Given the description of an element on the screen output the (x, y) to click on. 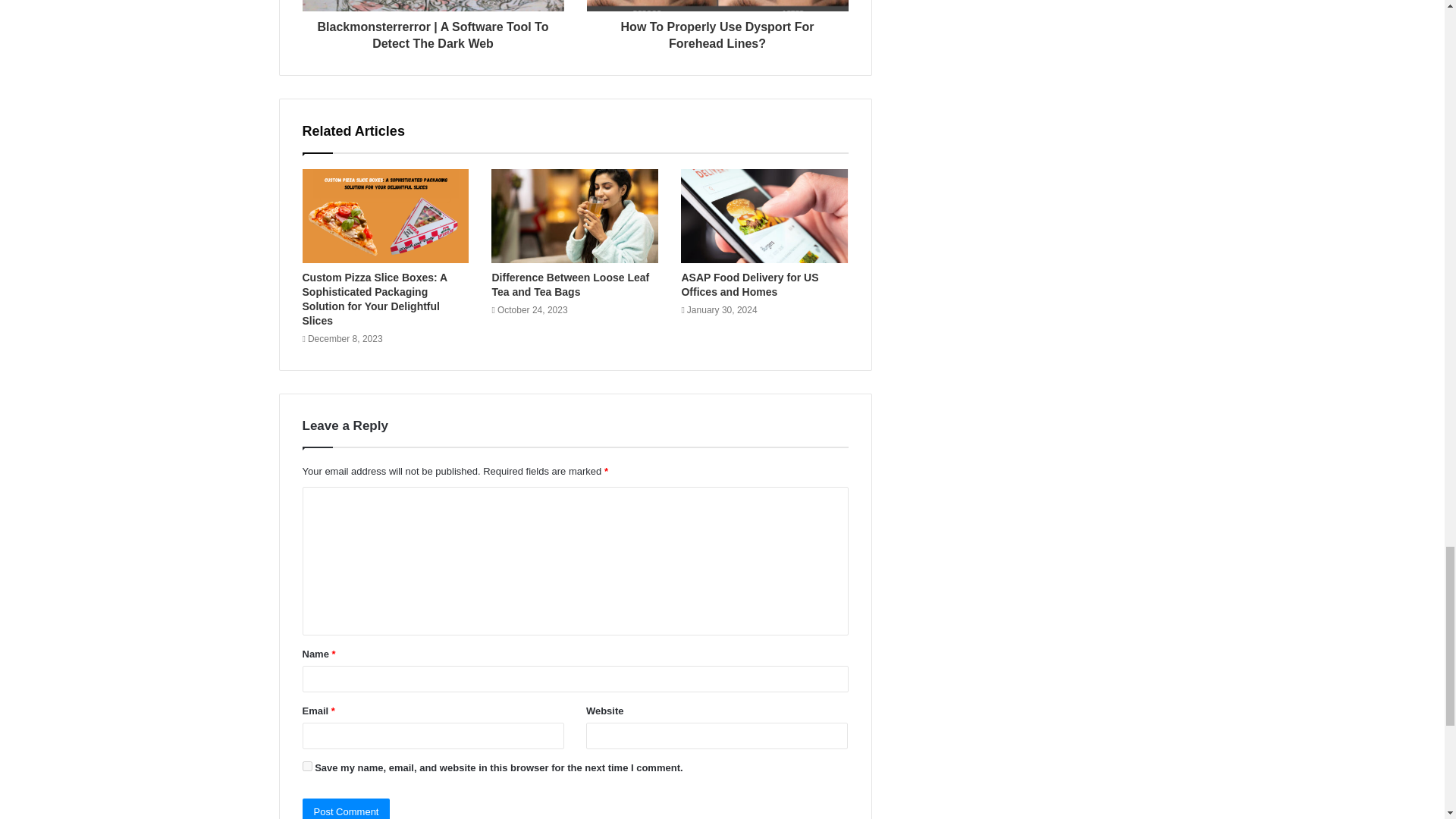
Post Comment (345, 808)
yes (306, 766)
